Given the description of an element on the screen output the (x, y) to click on. 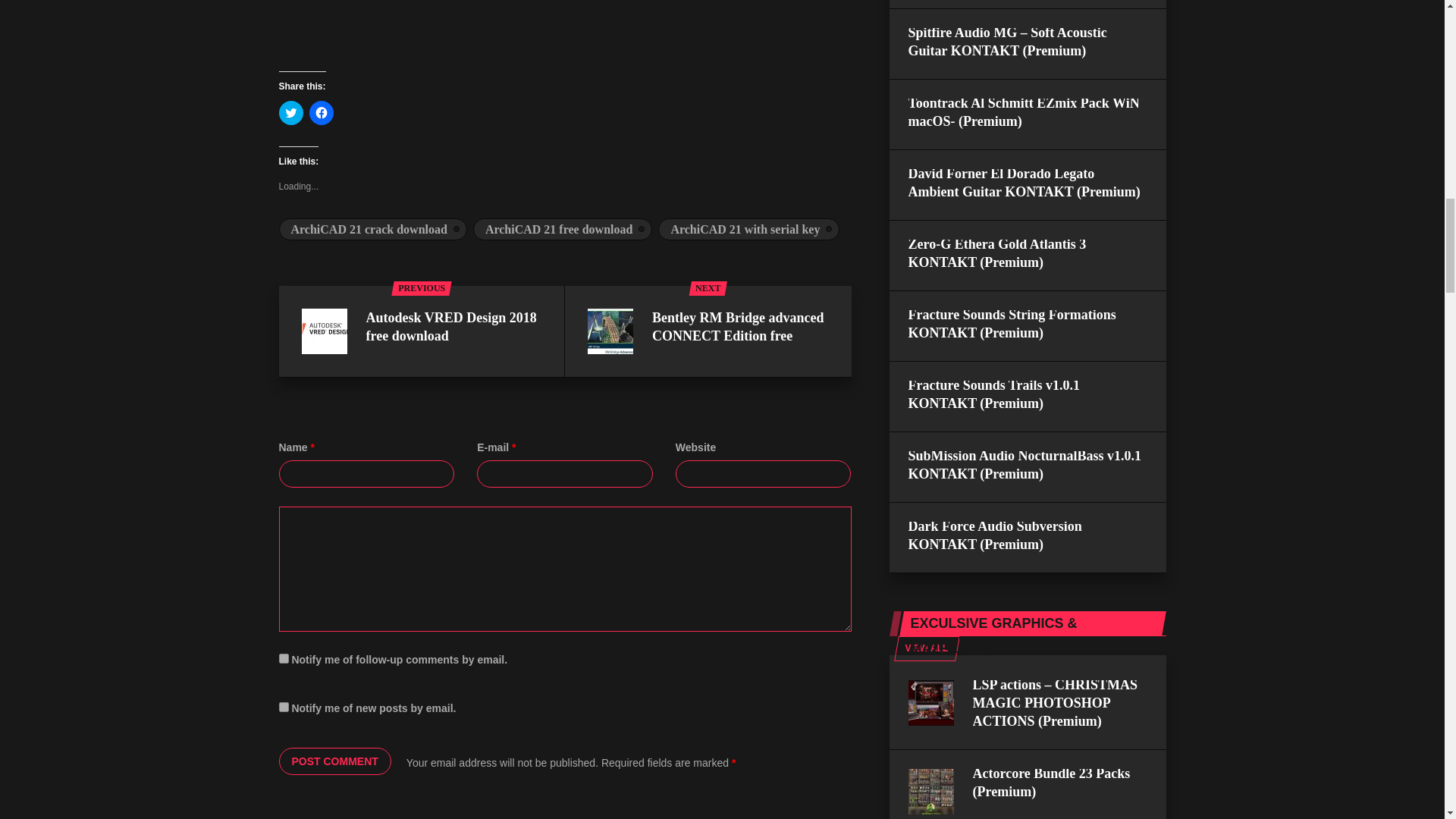
Click to share on Twitter (290, 112)
Click to share on Facebook (320, 112)
Post comment (335, 760)
subscribe (283, 658)
subscribe (283, 706)
ArchiCAD 21 crack download (373, 229)
